Given the description of an element on the screen output the (x, y) to click on. 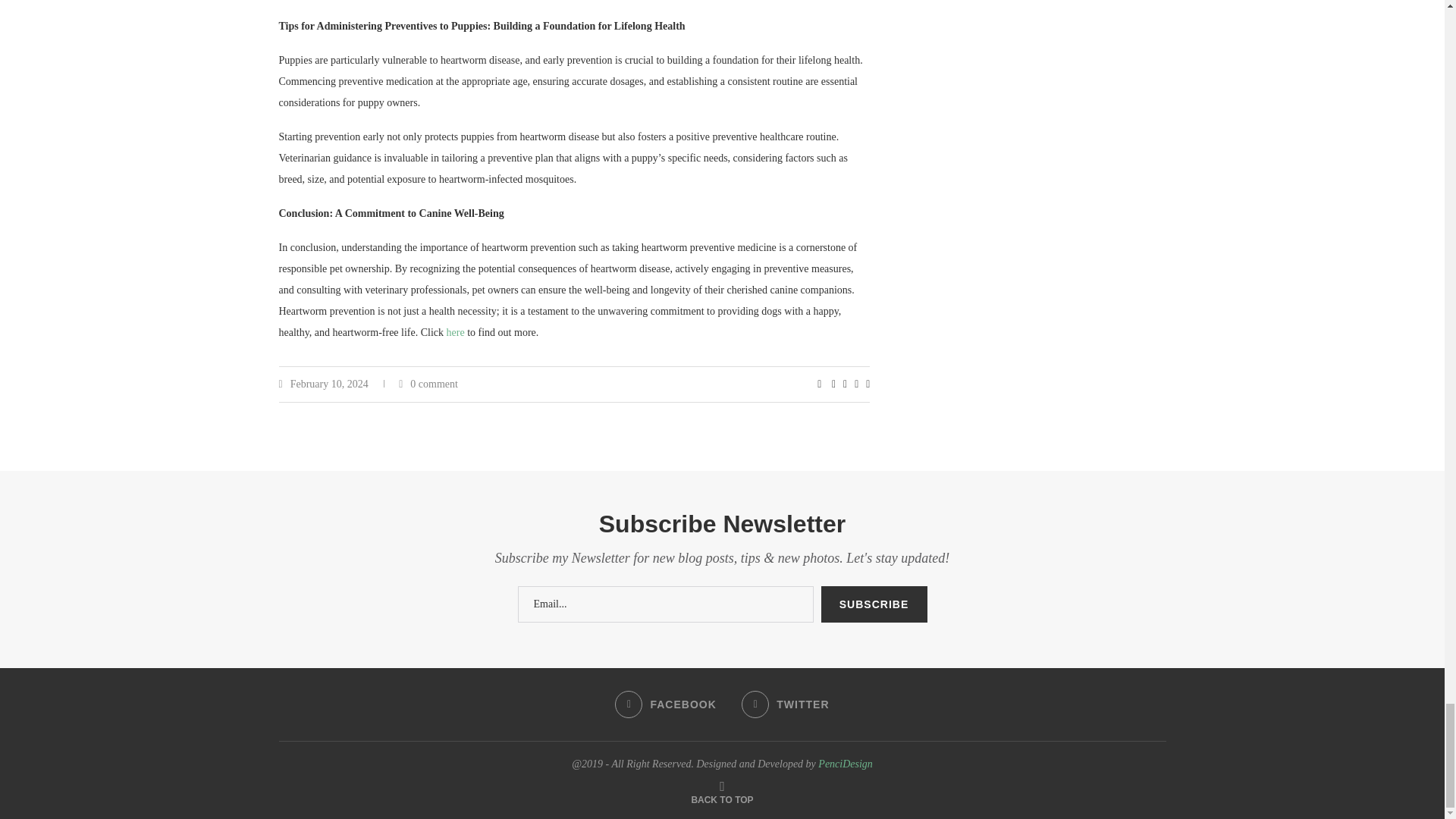
Subscribe (873, 604)
